Given the description of an element on the screen output the (x, y) to click on. 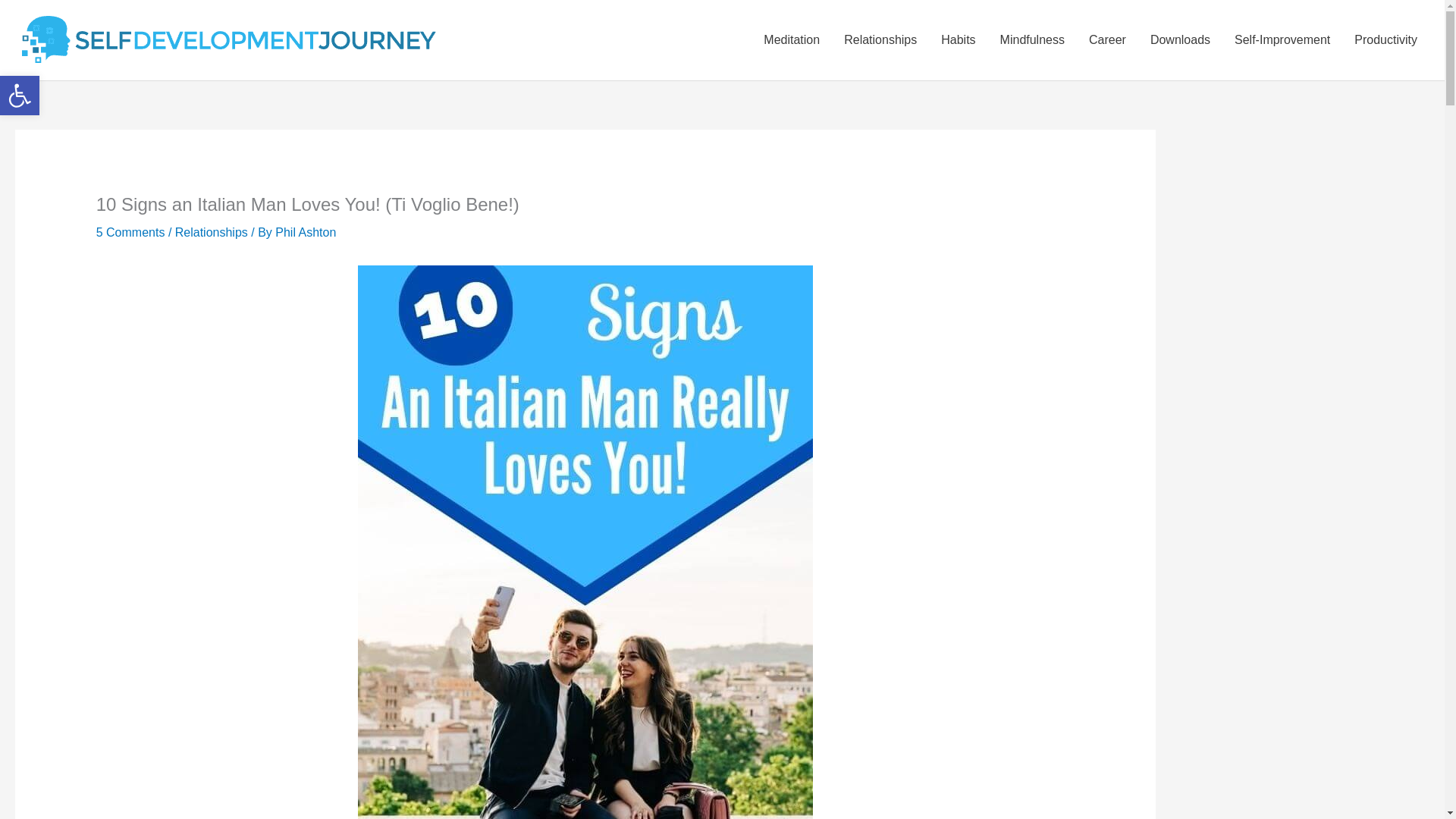
Phil Ashton (305, 232)
Productivity (1385, 39)
Habits (957, 39)
Mindfulness (1032, 39)
Career (1107, 39)
Relationships (210, 232)
Downloads (1180, 39)
5 Comments (130, 232)
Relationships (879, 39)
View all posts by Phil Ashton (305, 232)
